Given the description of an element on the screen output the (x, y) to click on. 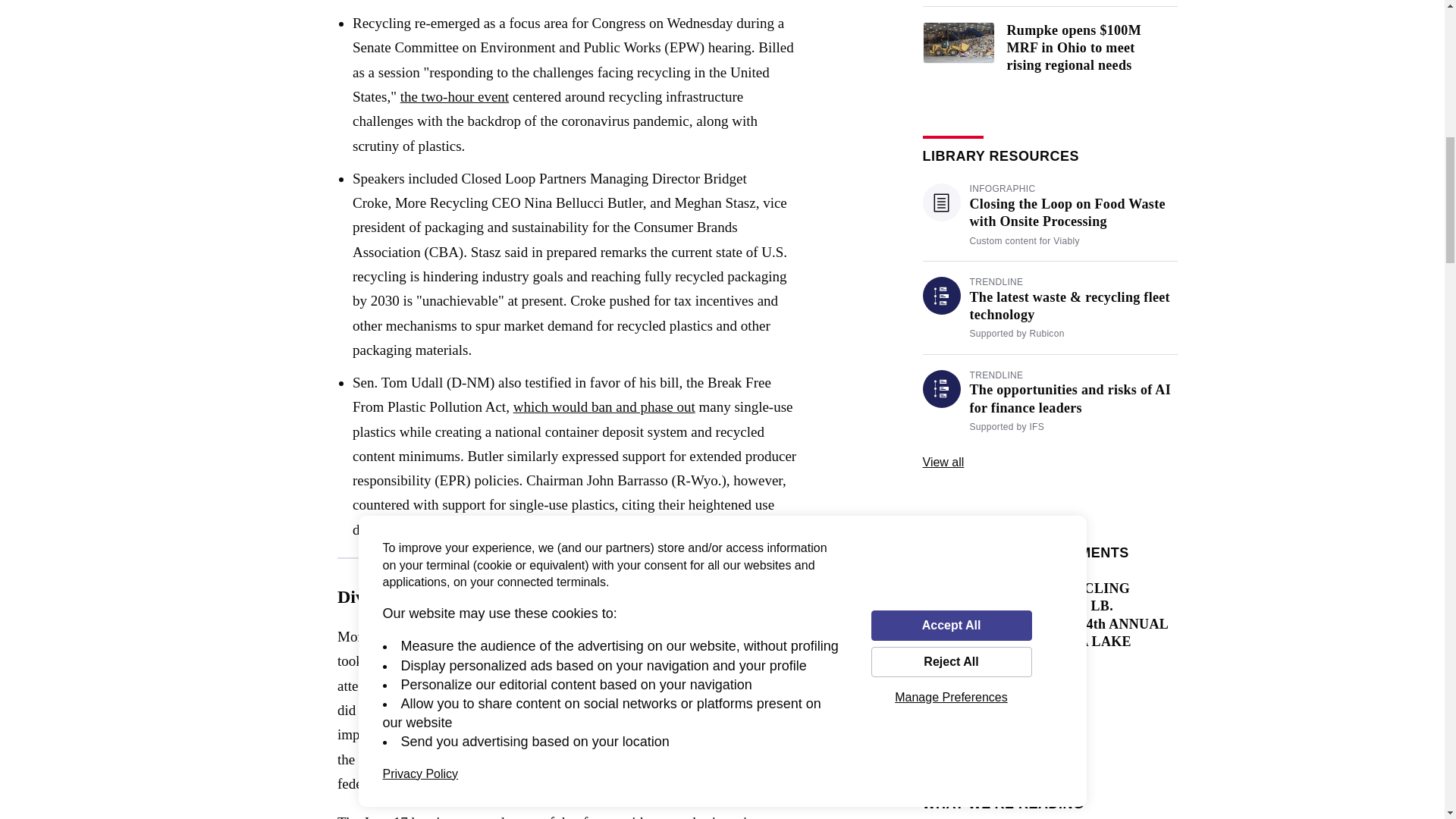
which would ban and phase out (604, 406)
the two-hour event (454, 96)
has emphasized recycling (664, 709)
a House event in early March (537, 759)
